Given the description of an element on the screen output the (x, y) to click on. 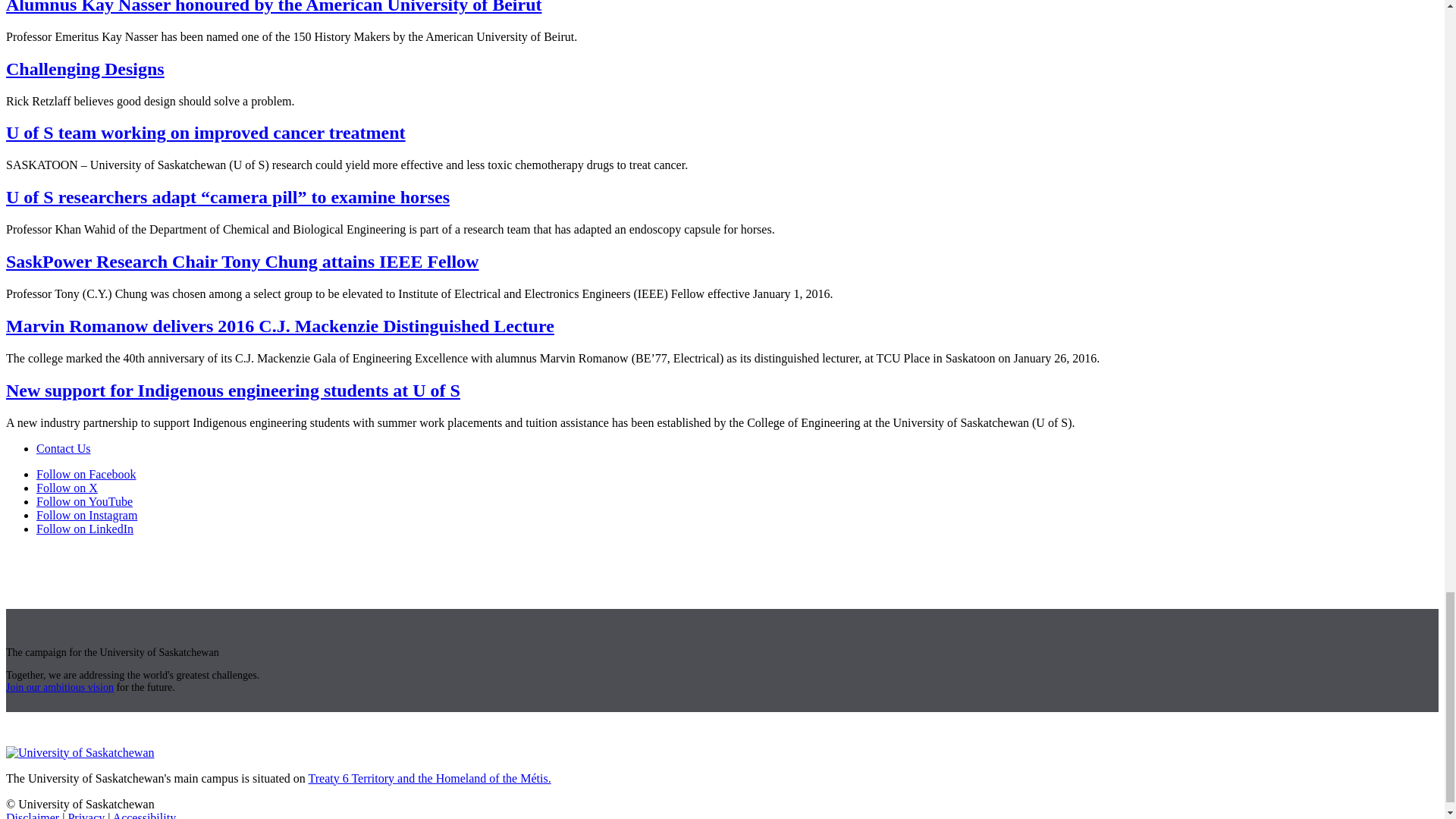
Follow on LinkedIn (84, 528)
Follow on X (66, 487)
Follow on Instagram (86, 514)
Follow on YouTube (84, 501)
Follow on Facebook (86, 473)
